Given the description of an element on the screen output the (x, y) to click on. 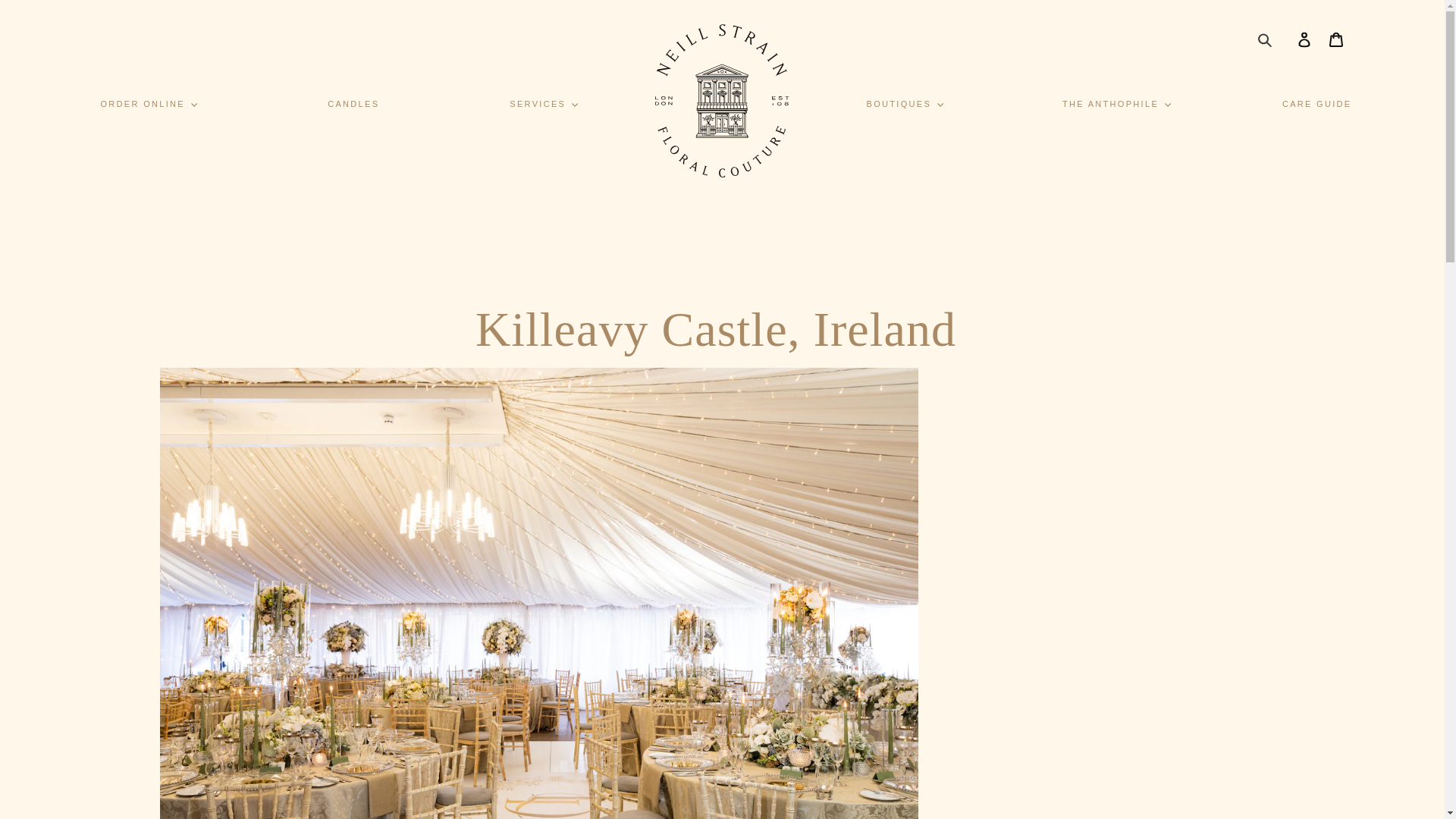
SERVICES (543, 103)
ORDER ONLINE (149, 103)
Search (1265, 38)
THE ANTHOPHILE (1115, 103)
BOUTIQUES (904, 103)
CARE GUIDE (1317, 104)
CANDLES (352, 104)
